Given the description of an element on the screen output the (x, y) to click on. 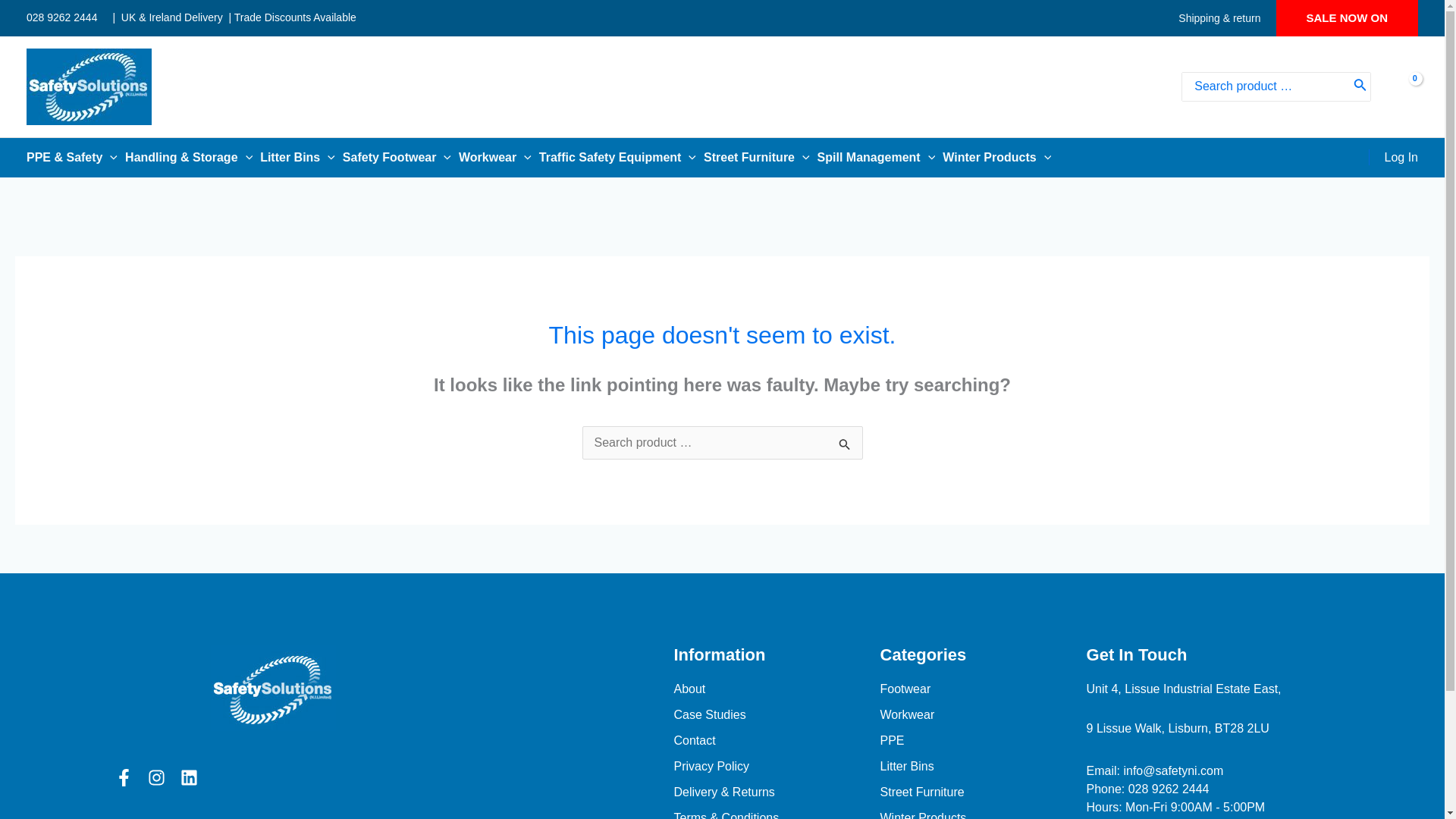
Workwear (498, 157)
Search (844, 446)
Search (844, 446)
Search (1360, 86)
Litter Bins (301, 157)
Safety Footwear (400, 157)
028 9262 2444 (61, 17)
SALE NOW ON (1346, 18)
